Given the description of an element on the screen output the (x, y) to click on. 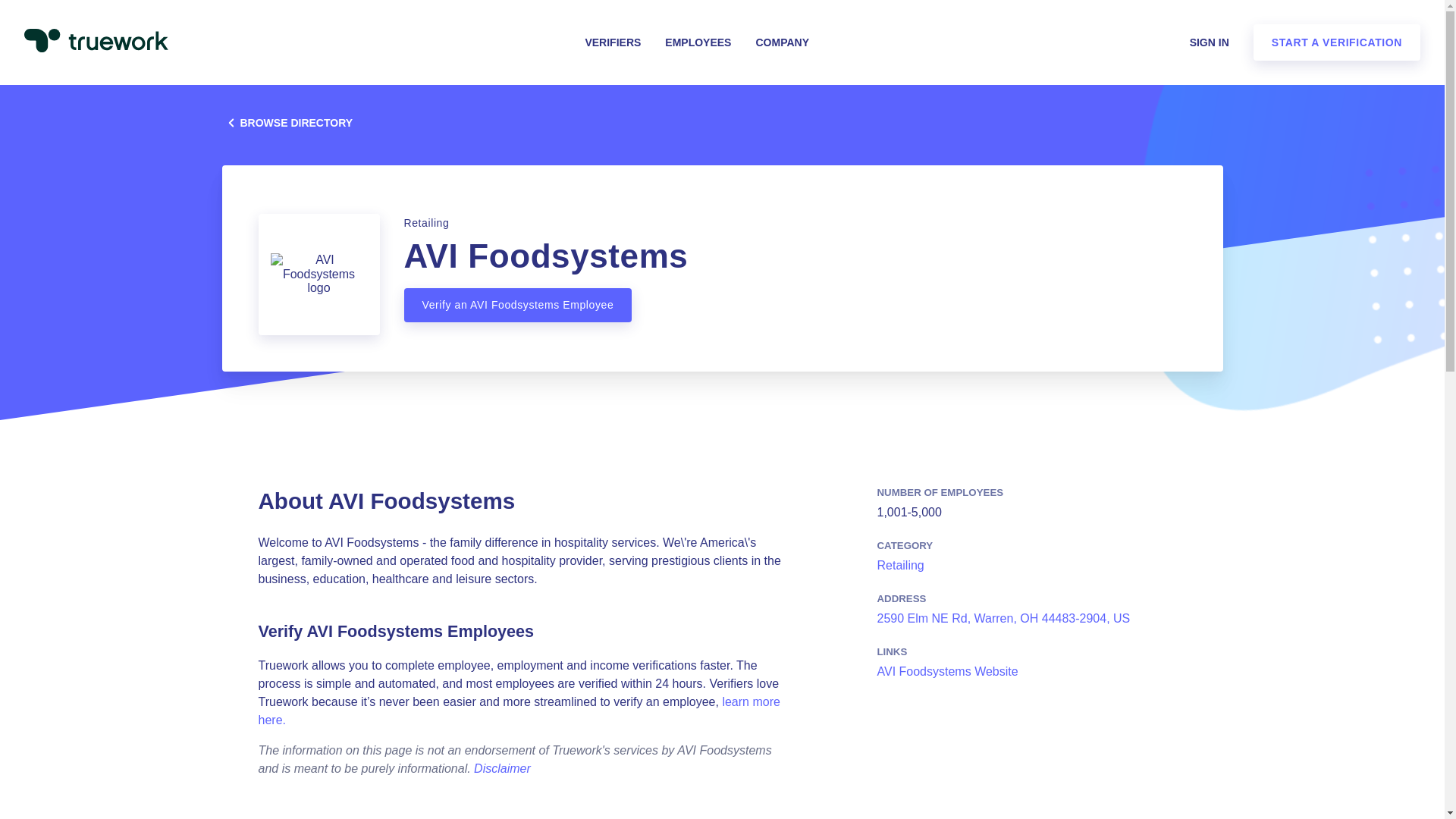
AVI Foodsystems Website (946, 671)
Retailing (899, 564)
COMPANY (782, 42)
EMPLOYEES (697, 42)
2590 Elm NE Rd, Warren, OH 44483-2904, US (1002, 617)
SIGN IN (1208, 42)
START A VERIFICATION (1337, 42)
learn more here. (517, 710)
Verify an AVI Foodsystems Employee (517, 305)
VERIFIERS (612, 42)
